Given the description of an element on the screen output the (x, y) to click on. 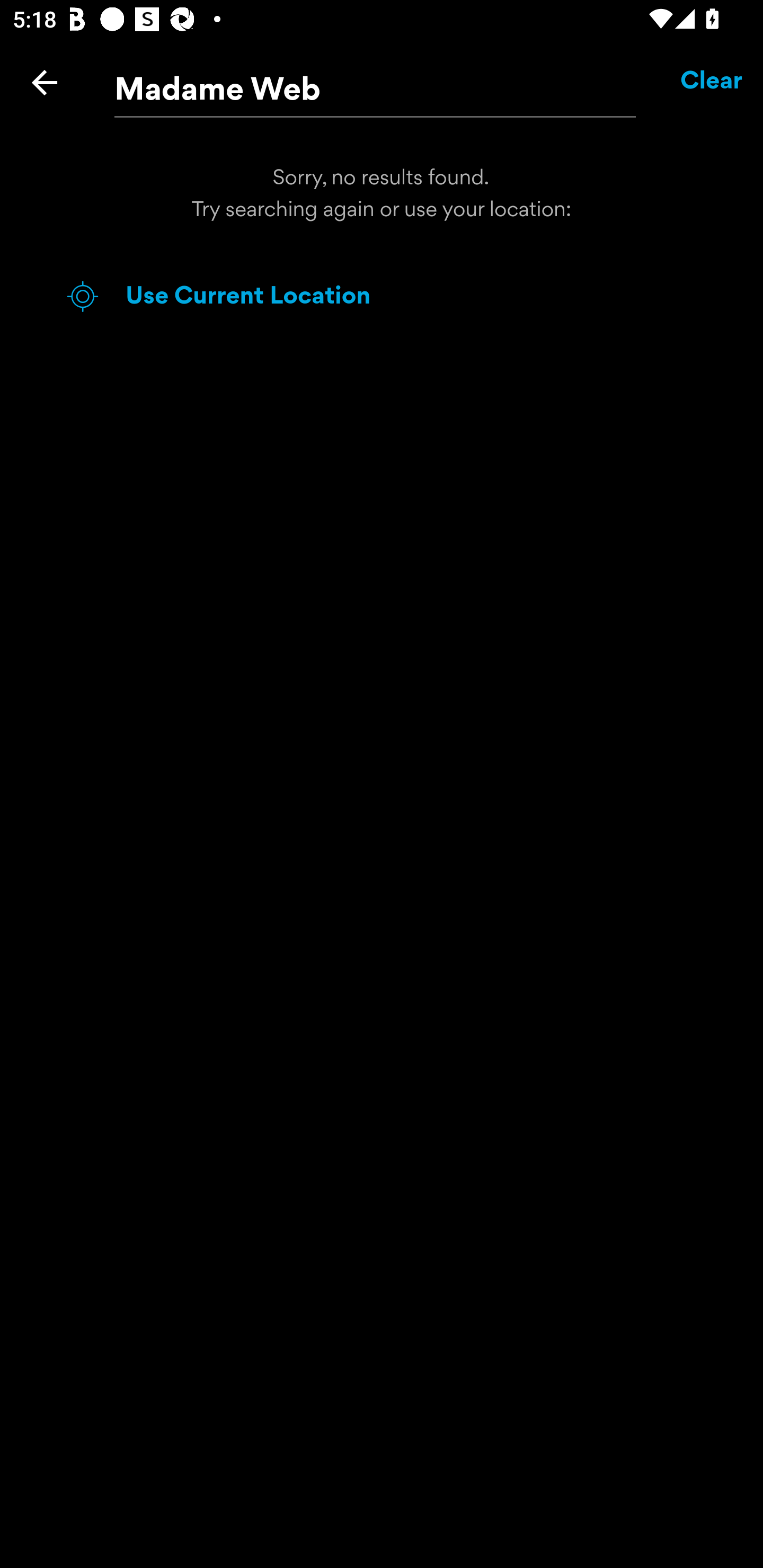
Back (44, 82)
Clear (712, 82)
Madame Web (374, 82)
Use Current Location (413, 296)
